Given the description of an element on the screen output the (x, y) to click on. 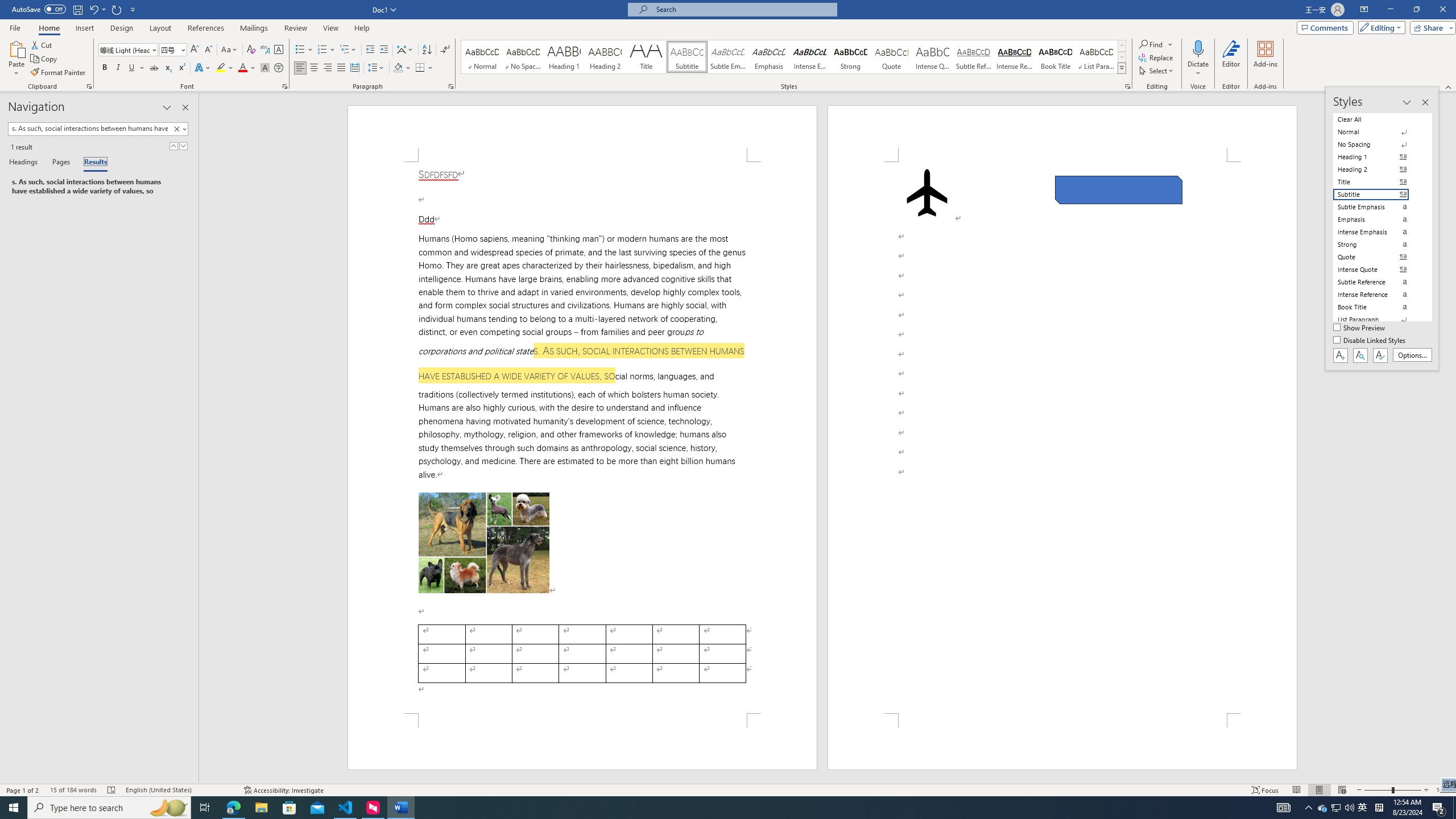
Clear All (1377, 119)
Subtle Reference (973, 56)
Zoom 104% (1443, 790)
